Given the description of an element on the screen output the (x, y) to click on. 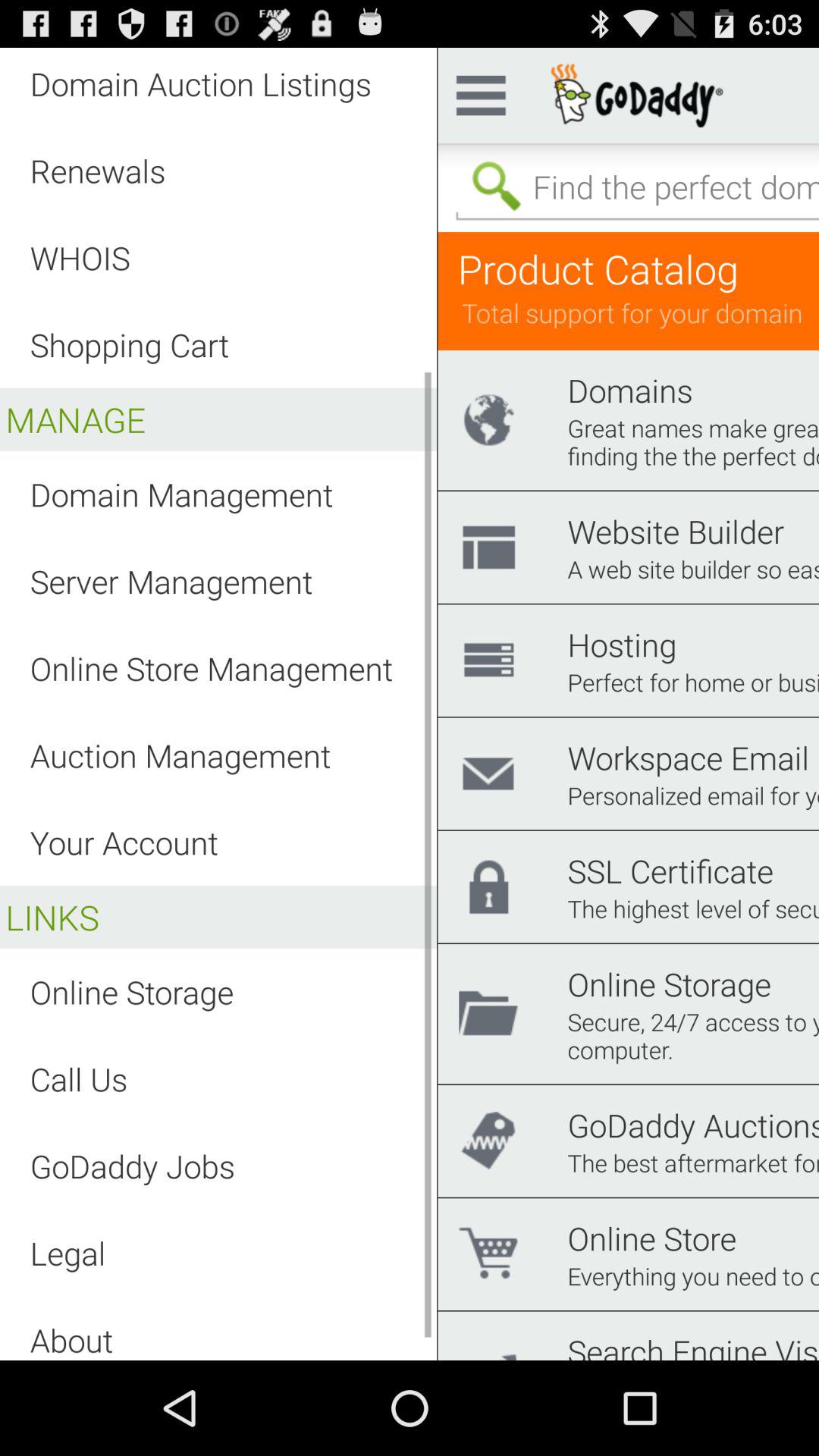
click app above legal item (132, 1165)
